Given the description of an element on the screen output the (x, y) to click on. 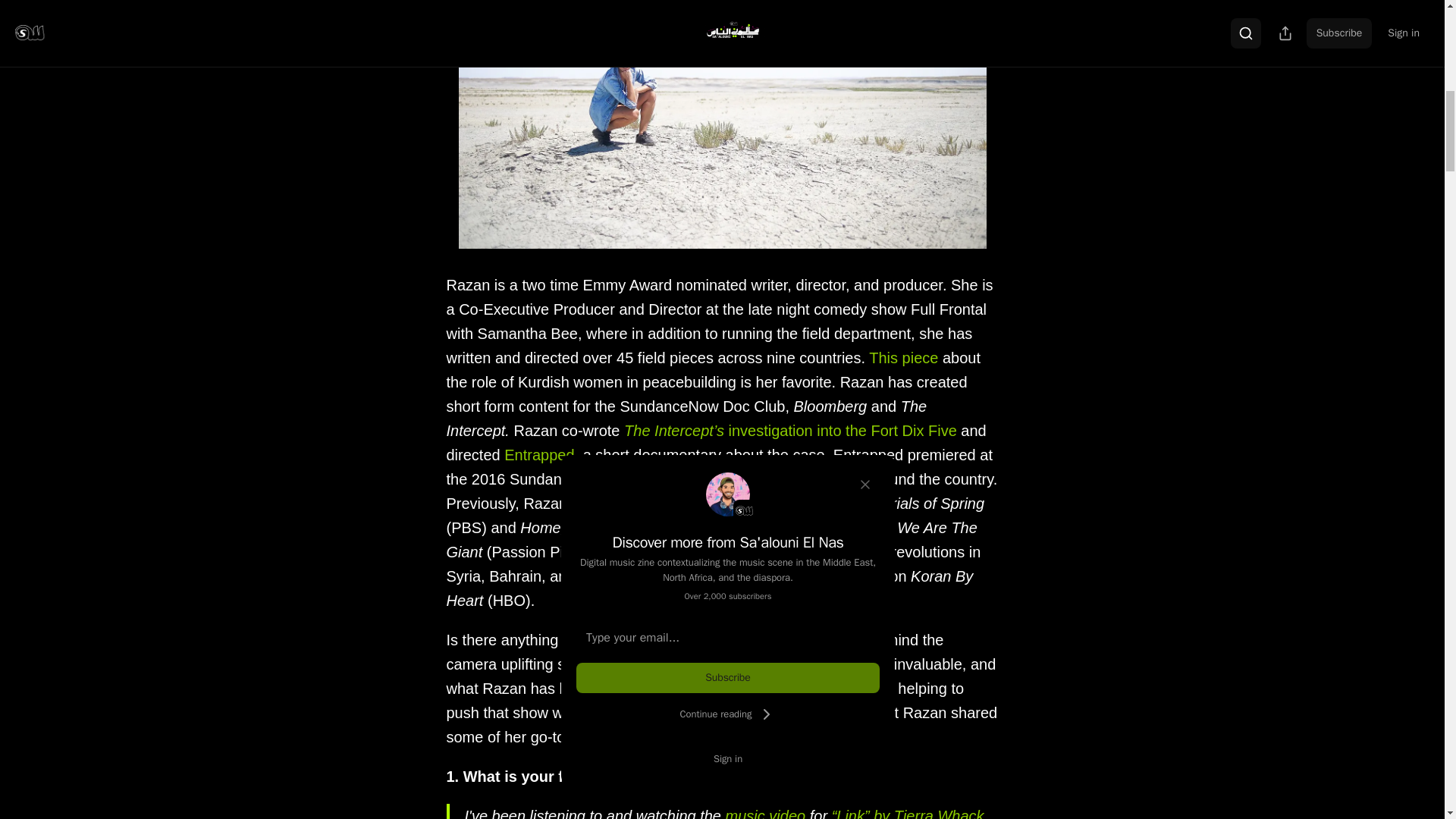
Subscribe (727, 677)
investigation into the Fort Dix Five (839, 430)
Sign in (727, 758)
This piece (903, 357)
music video  (767, 813)
Entrapped, (540, 454)
